Given the description of an element on the screen output the (x, y) to click on. 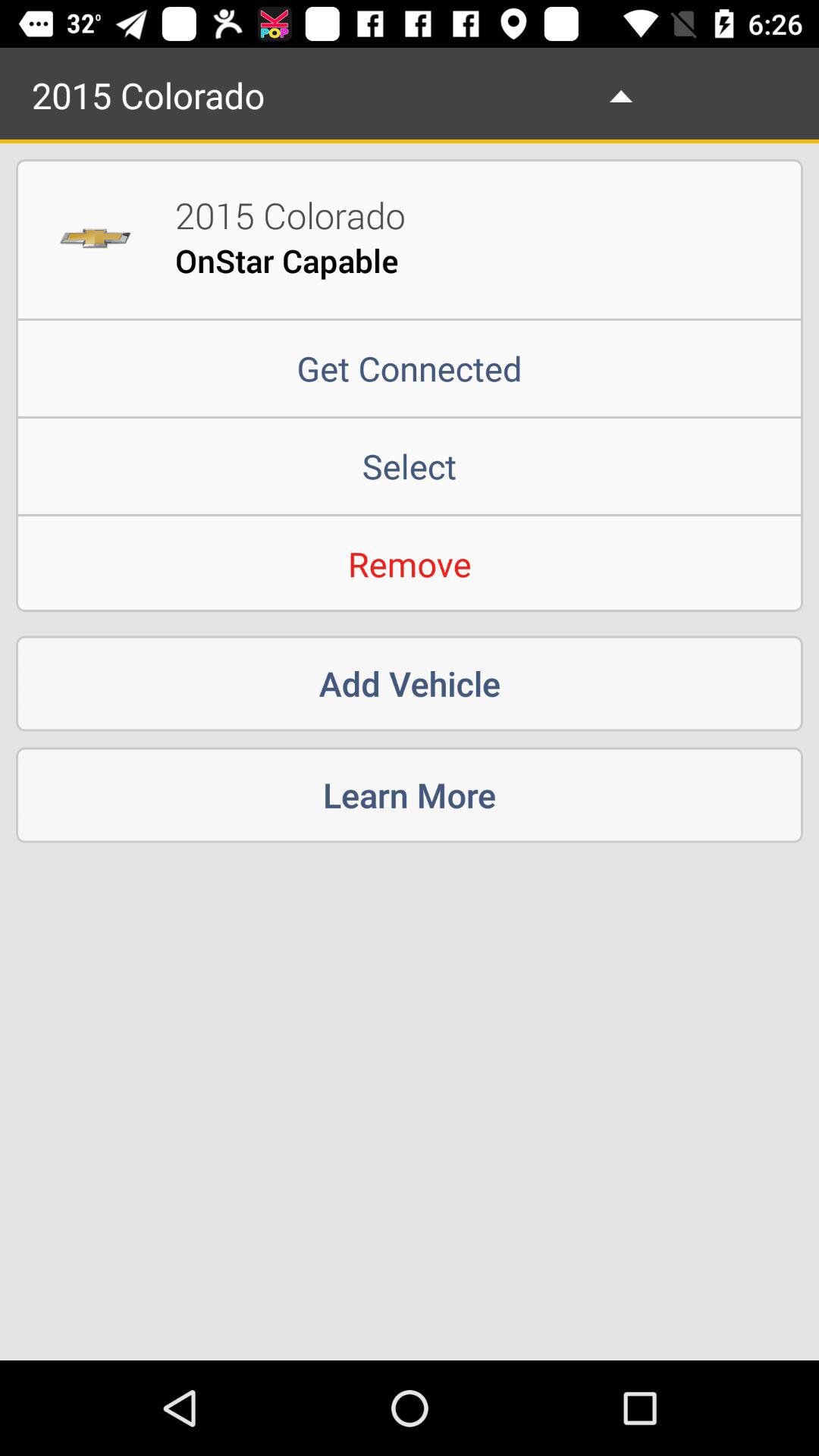
click on select button (409, 465)
